Given the description of an element on the screen output the (x, y) to click on. 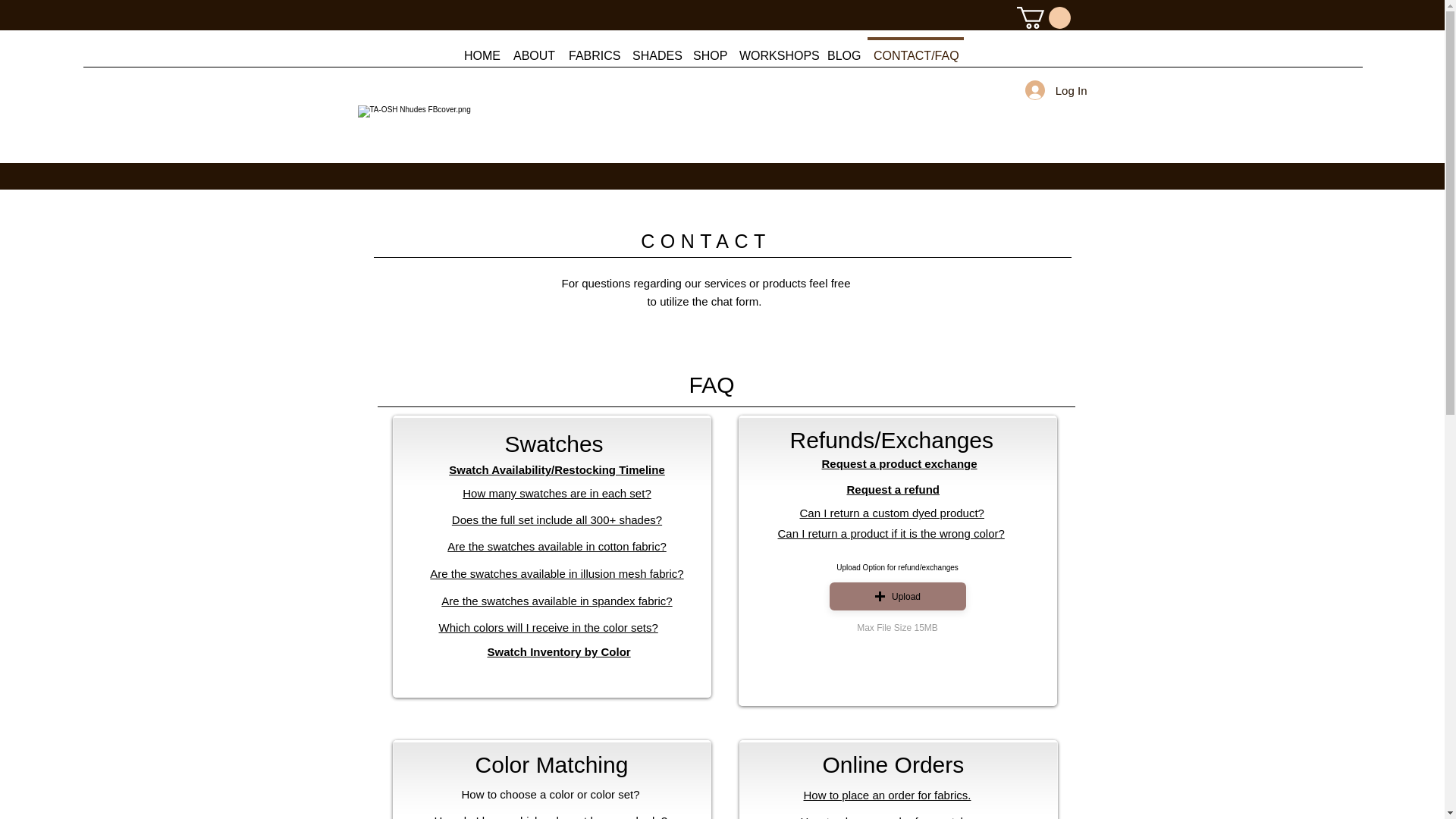
WORKSHOPS (775, 48)
Are the swatches available in illusion mesh fabric? (555, 573)
Can I return a custom dyed product? (891, 512)
SHOP (708, 48)
ABOUT (532, 48)
HOME (481, 48)
Are the swatches available in spandex fabric? (556, 600)
Request a refund (892, 489)
Max File Size 15MB (897, 627)
Are the swatches available in cotton fabric? (556, 545)
